Given the description of an element on the screen output the (x, y) to click on. 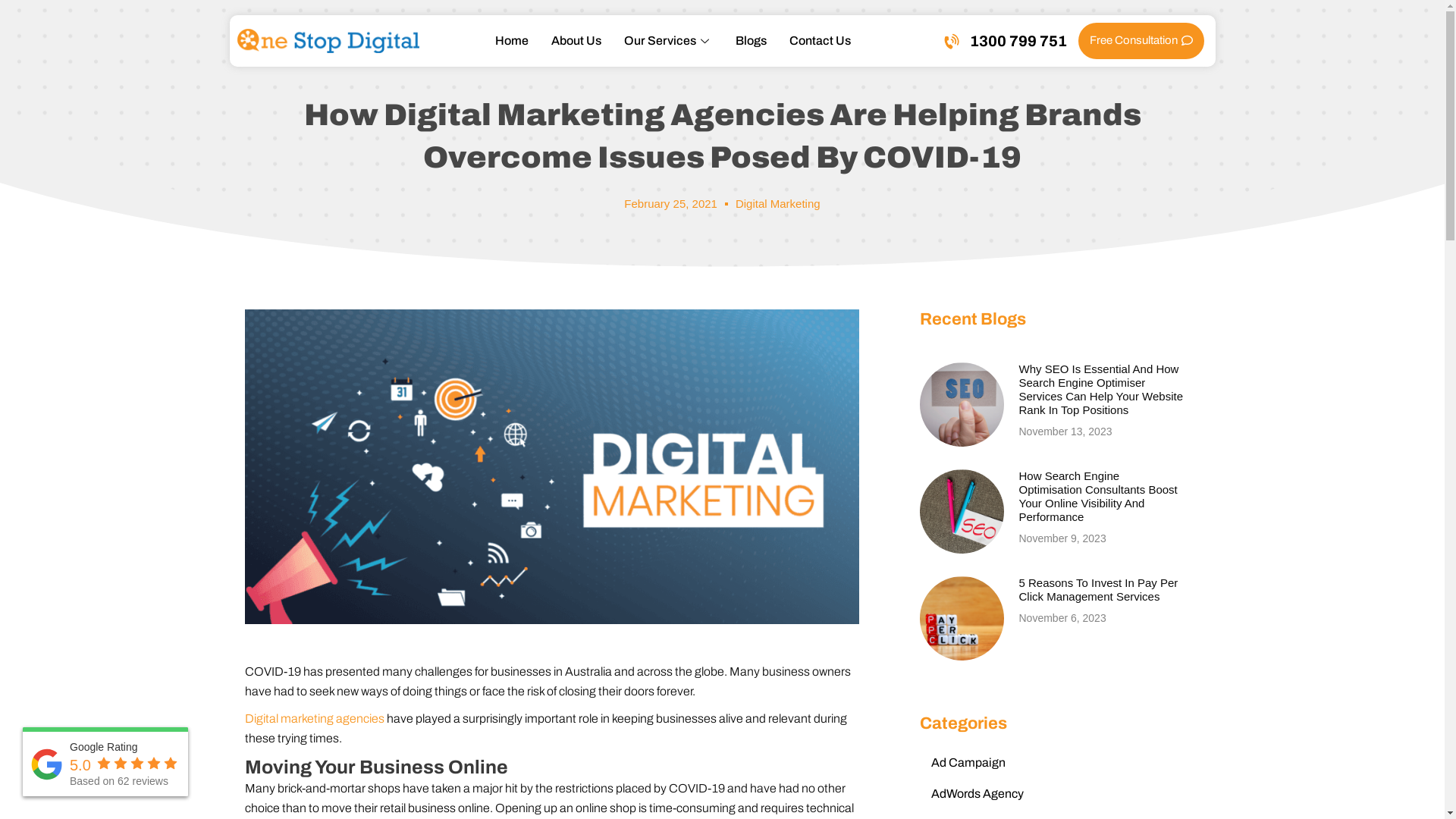
Blogs Element type: text (751, 40)
Digital marketing agencies Element type: text (313, 718)
February 25, 2021 Element type: text (670, 203)
Our Services Element type: text (668, 40)
Home Element type: text (511, 40)
AdWords Agency Element type: text (1059, 793)
Digital Marketing Element type: text (777, 203)
Free Consultation Element type: text (1141, 40)
1300 799 751 Element type: text (1004, 40)
Contact Us Element type: text (820, 40)
5 Reasons To Invest In Pay Per Click Management Services Element type: text (1098, 589)
Ad Campaign Element type: text (1059, 762)
About Us Element type: text (575, 40)
